Given the description of an element on the screen output the (x, y) to click on. 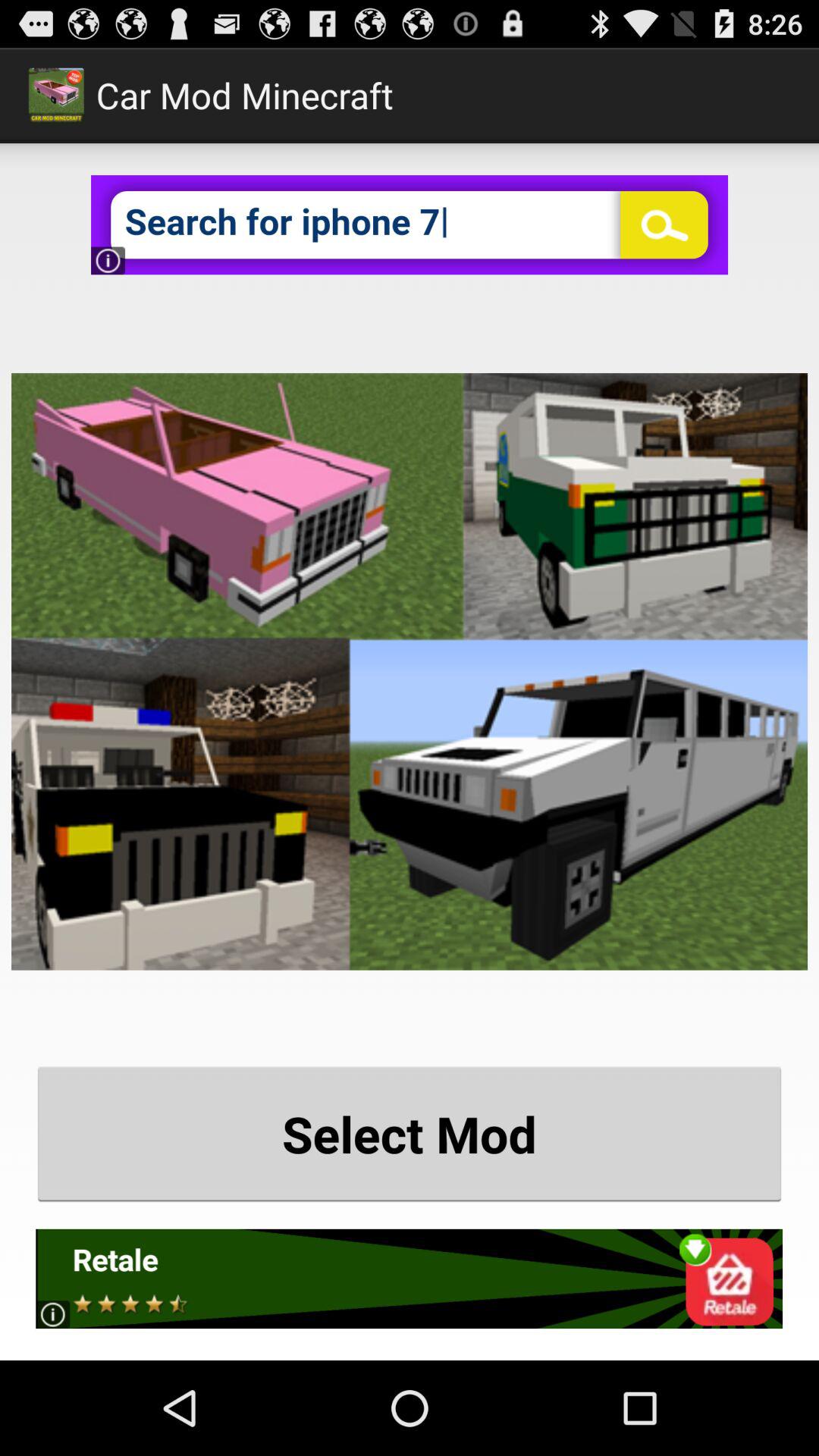
serch (409, 224)
